Given the description of an element on the screen output the (x, y) to click on. 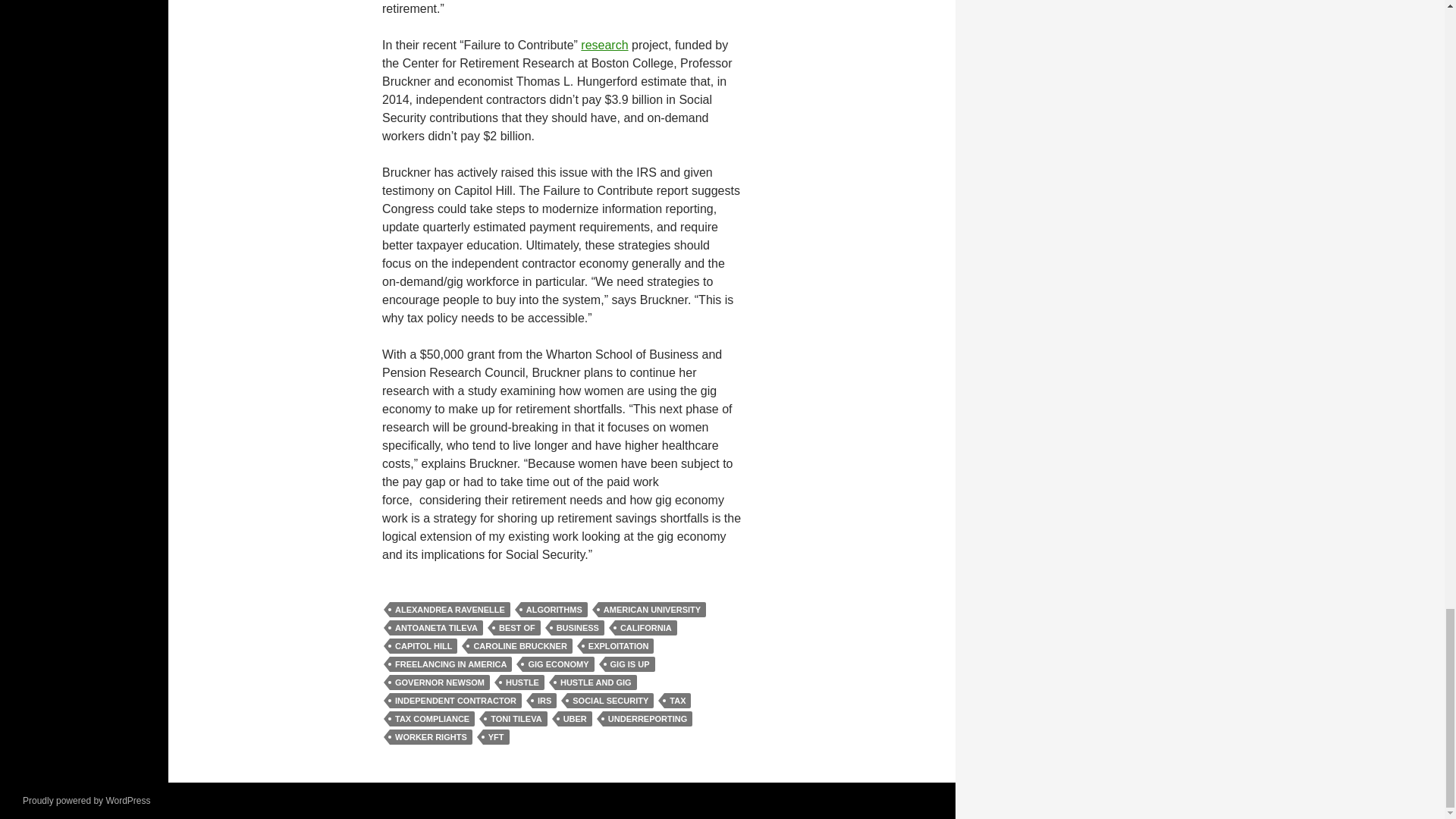
BUSINESS (577, 627)
BEST OF (516, 627)
ALEXANDREA RAVENELLE (450, 609)
CAROLINE BRUCKNER (519, 645)
EXPLOITATION (618, 645)
ANTOANETA TILEVA (436, 627)
GIG IS UP (630, 663)
FREELANCING IN AMERICA (451, 663)
AMERICAN UNIVERSITY (652, 609)
GIG ECONOMY (558, 663)
